Given the description of an element on the screen output the (x, y) to click on. 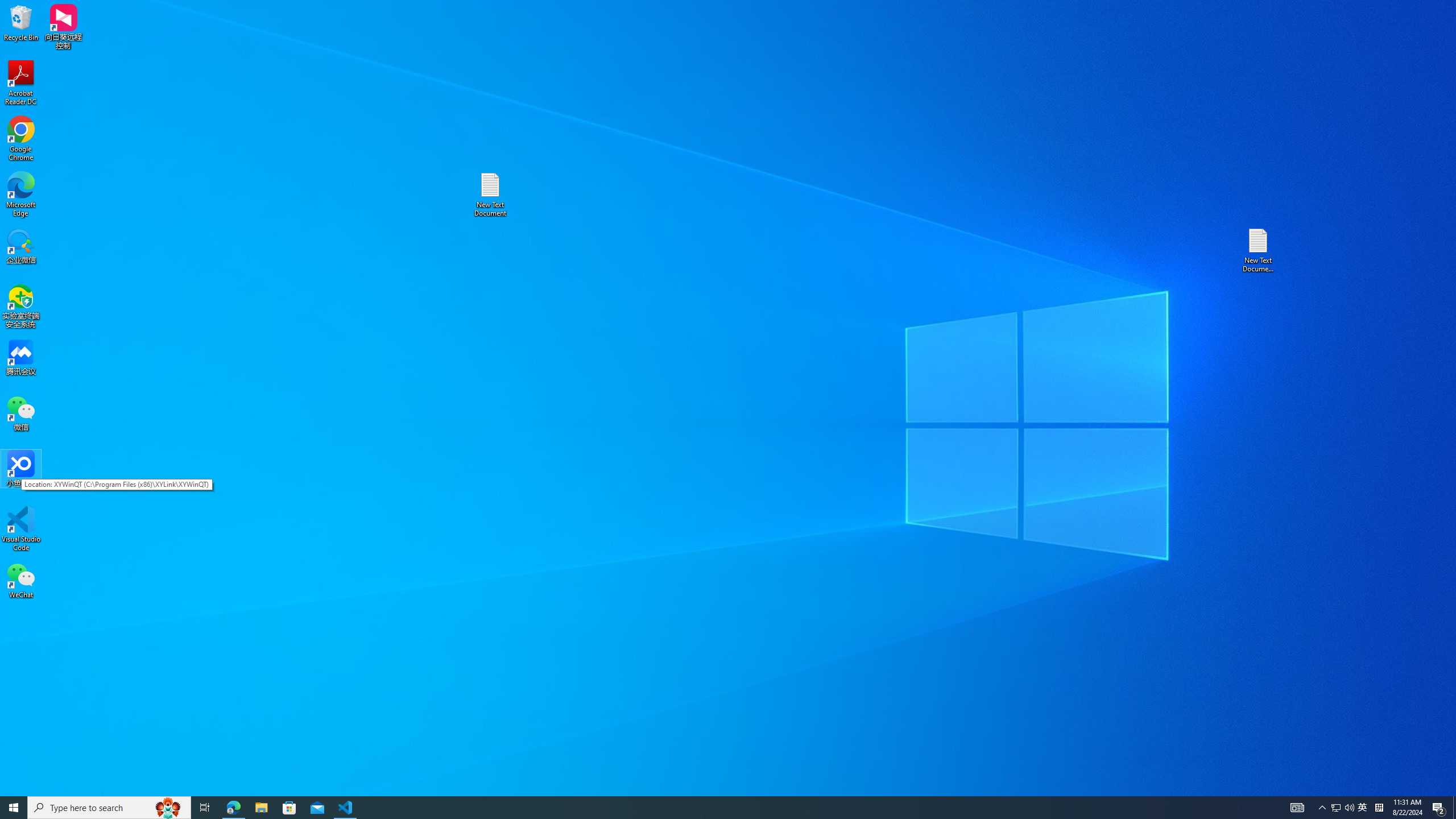
Google Chrome (21, 138)
